Given the description of an element on the screen output the (x, y) to click on. 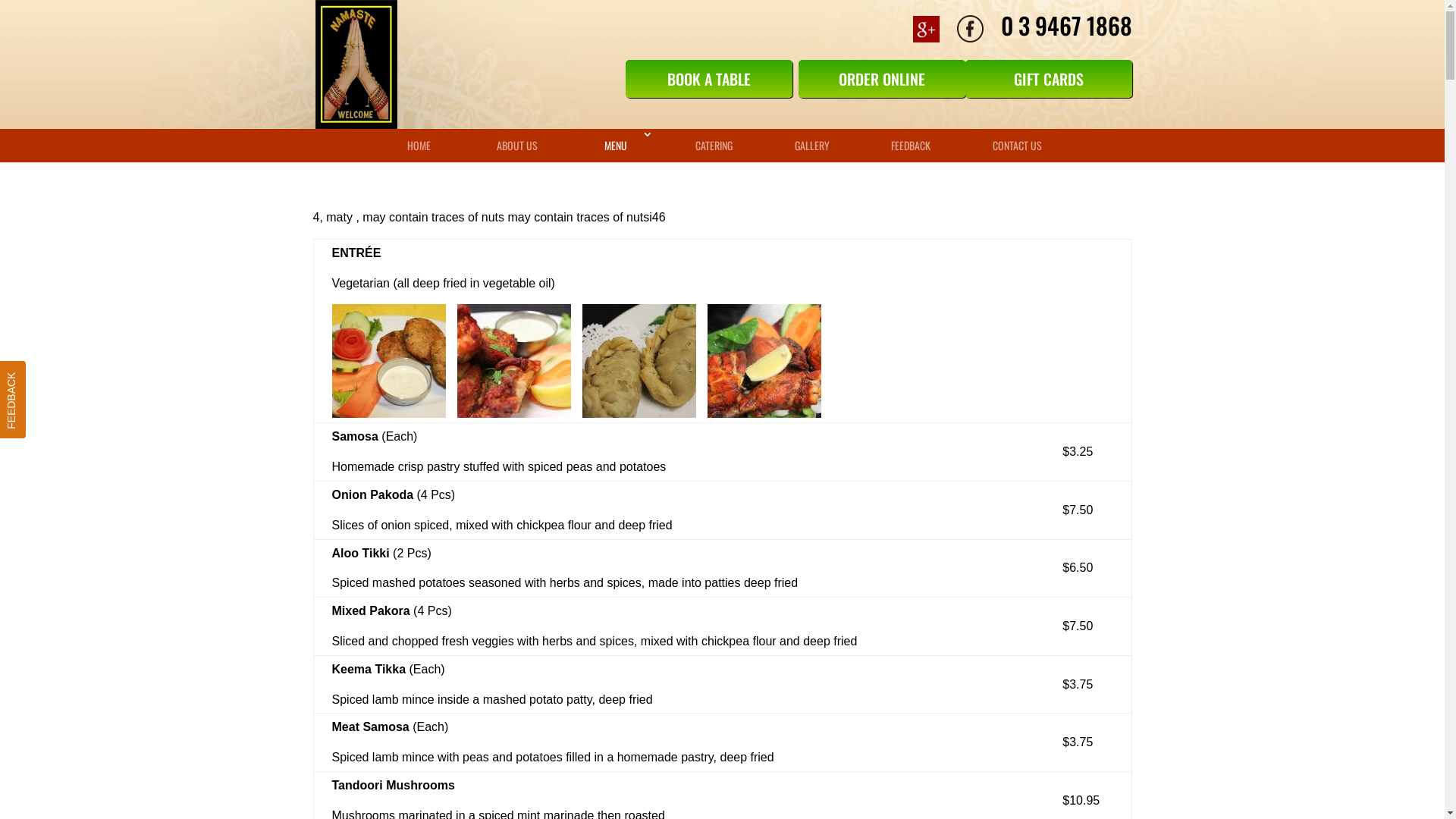
CONTACT US Element type: text (1016, 145)
HOME Element type: text (419, 145)
CATERING Element type: text (714, 145)
BOOK A TABLE Element type: text (707, 78)
FEEDBACK Element type: text (910, 145)
MENU Element type: text (615, 145)
GALLERY Element type: text (812, 145)
ORDER ONLINE Element type: text (880, 78)
ABOUT US Element type: text (517, 145)
0 3 9467 1868 Element type: text (1058, 24)
GIFT CARDS Element type: text (1047, 78)
